Given the description of an element on the screen output the (x, y) to click on. 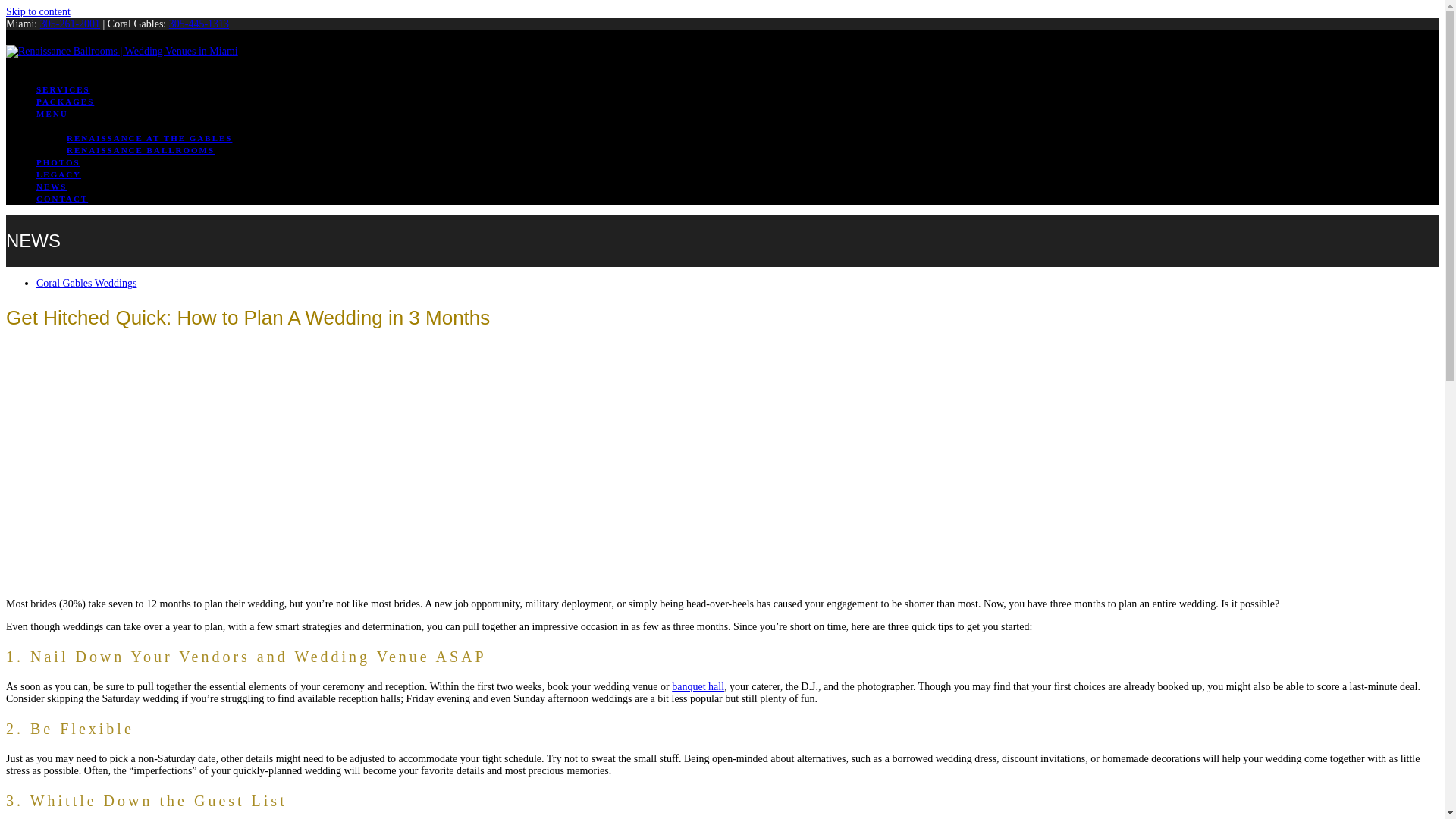
CONTACT (61, 197)
Skip to content (37, 11)
NEWS (51, 185)
LEGACY (58, 173)
Coral Gables Weddings (86, 283)
VENUES (58, 125)
PACKAGES (65, 101)
RENAISSANCE BALLROOMS (140, 149)
SERVICES (63, 89)
PHOTOS (58, 161)
